Given the description of an element on the screen output the (x, y) to click on. 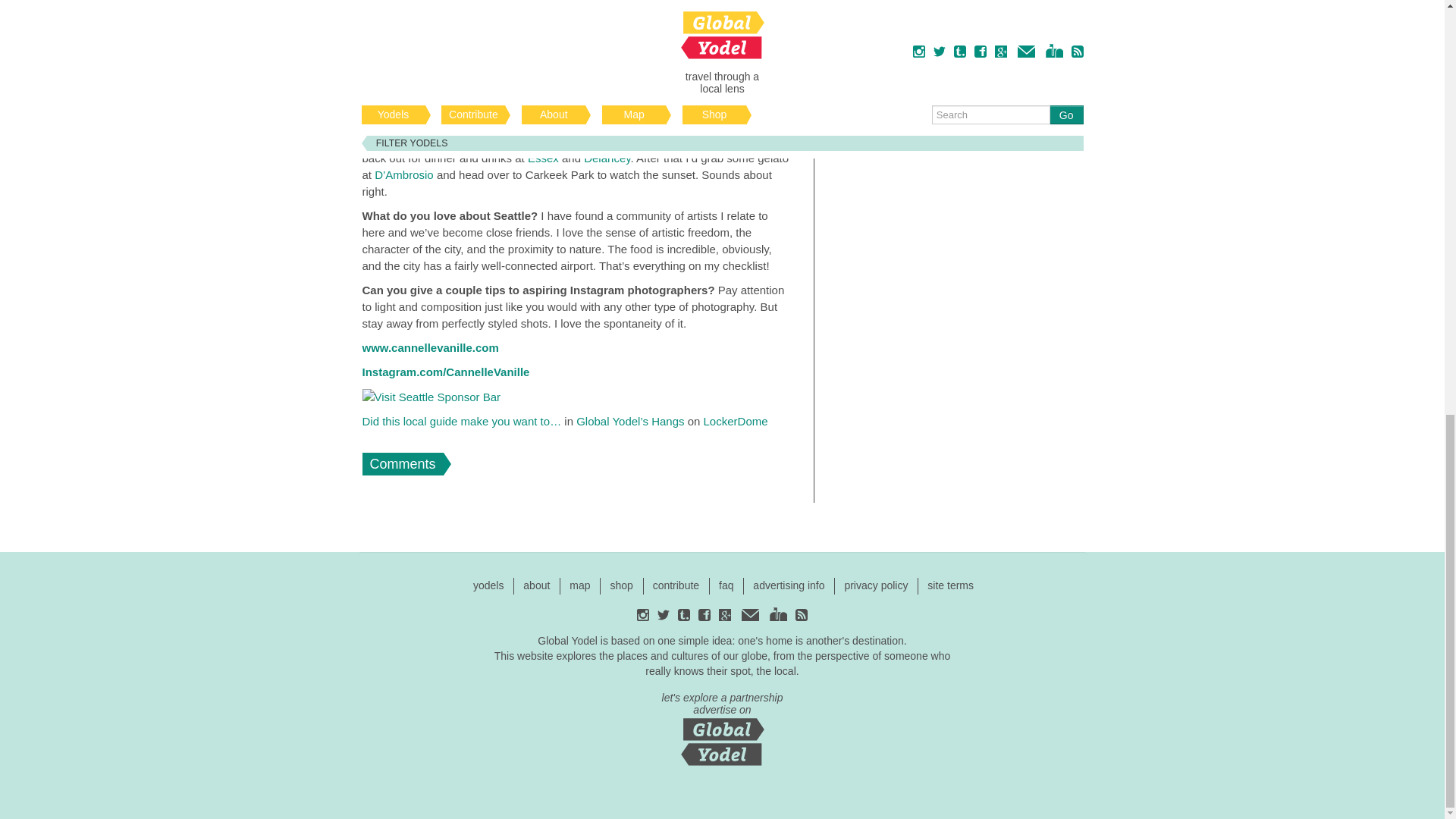
Totokalelo (674, 124)
Milstead (625, 91)
Advertise on Global Yodel (721, 726)
Book Larder (756, 91)
Oddfellows (531, 141)
The London Plane (510, 124)
